Given the description of an element on the screen output the (x, y) to click on. 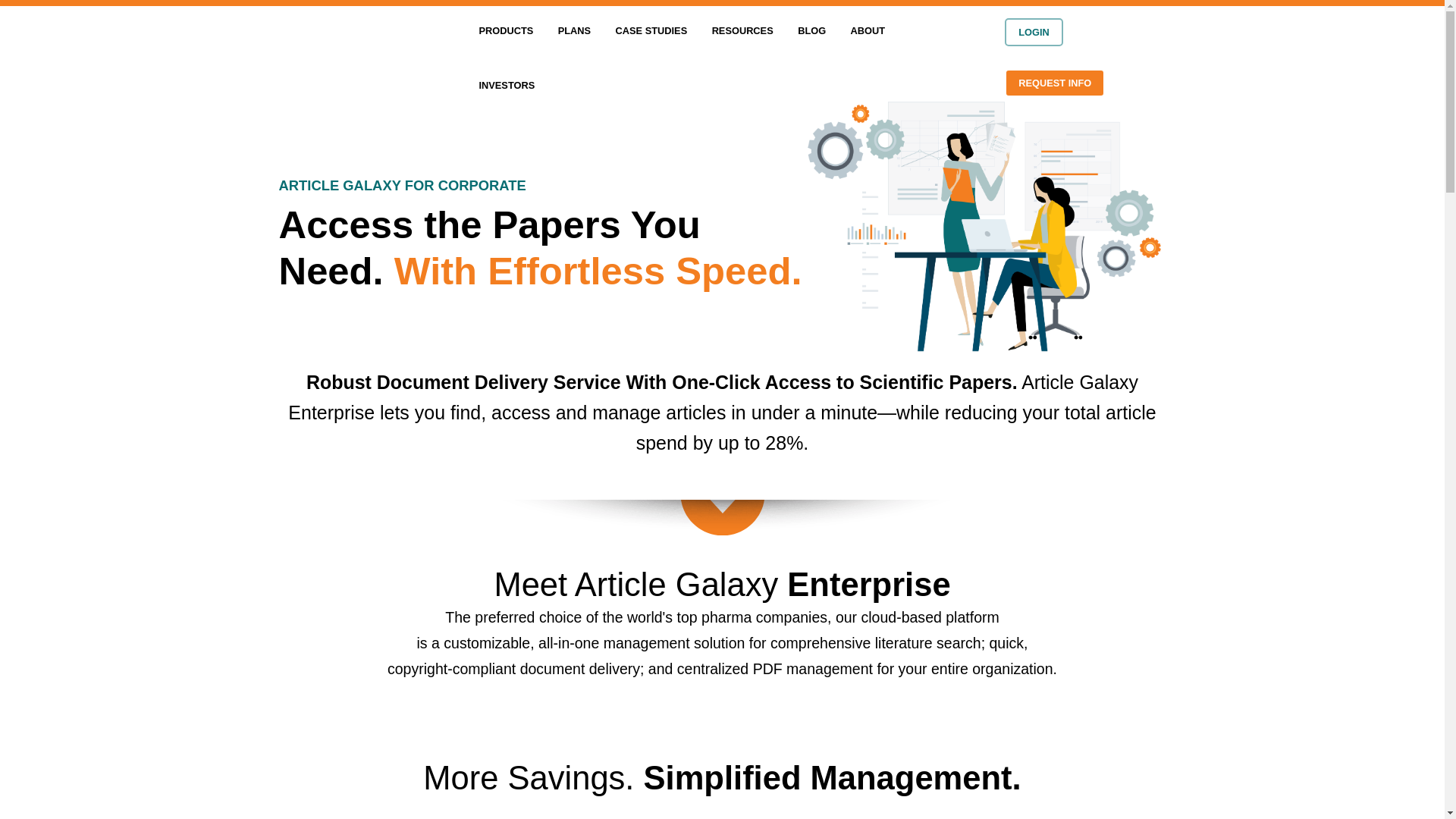
LOGIN (1033, 31)
Two female scientists searching for research papers (983, 224)
PRODUCTS (506, 33)
REQUEST INFO (1054, 82)
Research Solutions (362, 57)
